Given the description of an element on the screen output the (x, y) to click on. 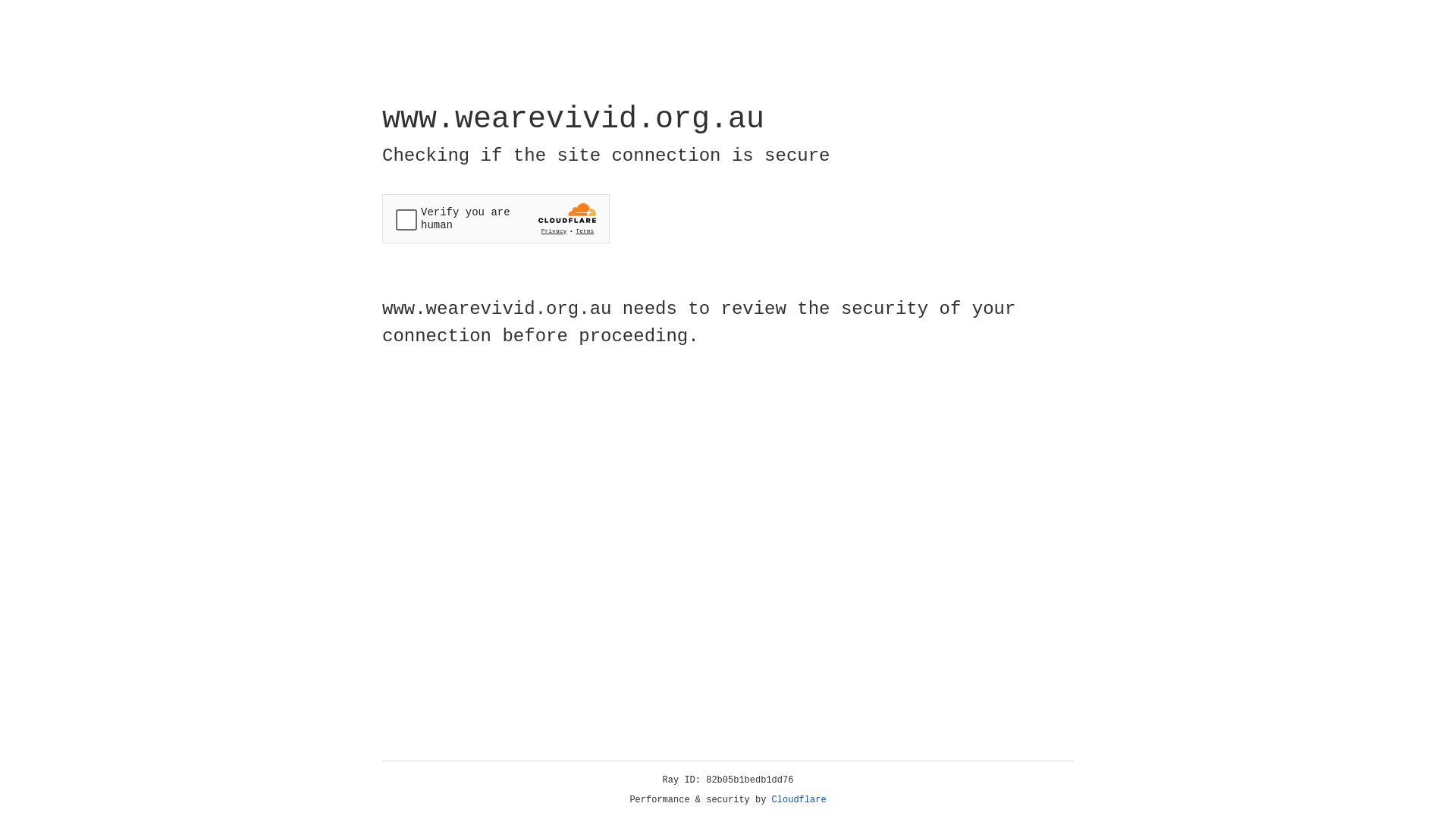
Cloudflare Element type: text (798, 799)
Widget containing a Cloudflare security challenge Element type: hover (495, 218)
